Given the description of an element on the screen output the (x, y) to click on. 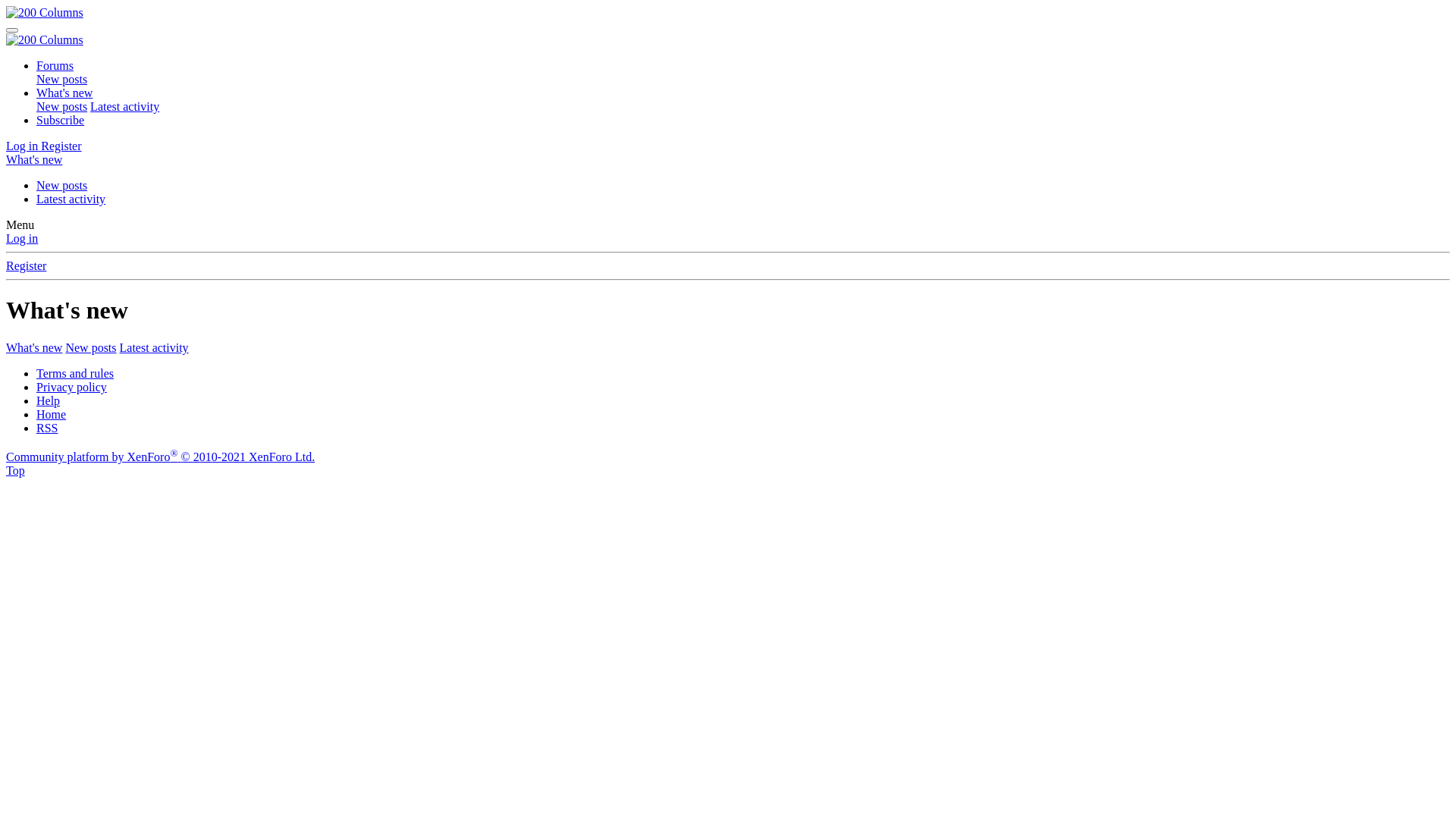
Help Element type: text (47, 400)
Latest activity Element type: text (70, 198)
New posts Element type: text (61, 106)
Home Element type: text (50, 413)
Log in Element type: text (21, 238)
New posts Element type: text (90, 347)
Top Element type: text (15, 470)
What's new Element type: text (34, 347)
Register Element type: text (26, 265)
New posts Element type: text (61, 184)
Subscribe Element type: text (60, 119)
Terms and rules Element type: text (74, 373)
Log in Element type: text (23, 145)
Forums Element type: text (54, 65)
What's new Element type: text (64, 92)
New posts Element type: text (61, 78)
RSS Element type: text (46, 427)
Privacy policy Element type: text (71, 386)
Latest activity Element type: text (124, 106)
Latest activity Element type: text (153, 347)
Register Element type: text (60, 145)
What's new Element type: text (34, 159)
